Given the description of an element on the screen output the (x, y) to click on. 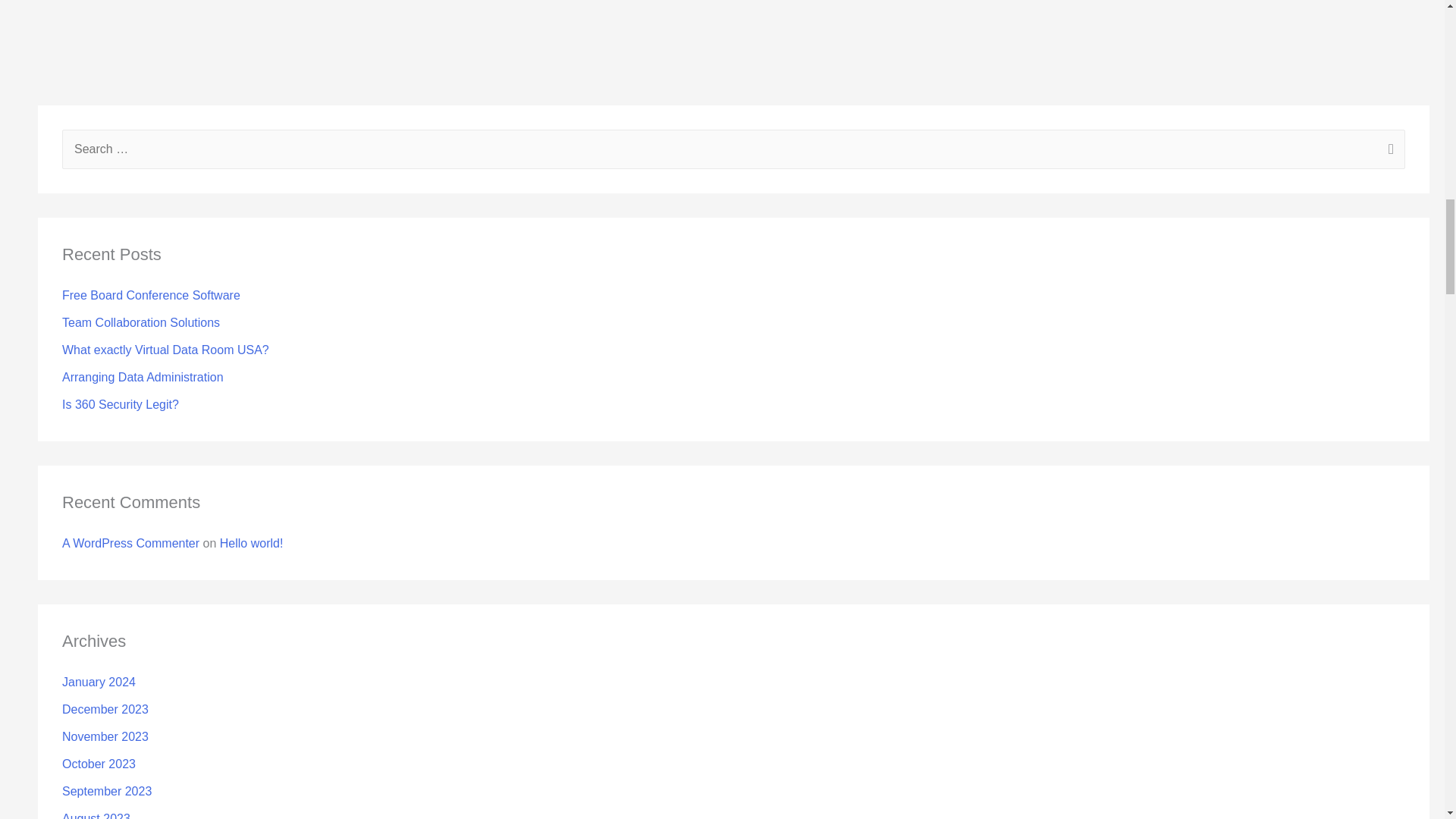
A WordPress Commenter (130, 543)
Arranging Data Administration (143, 377)
Team Collaboration Solutions (140, 322)
November 2023 (105, 736)
January 2024 (98, 681)
What exactly Virtual Data Room USA? (165, 349)
October 2023 (98, 763)
December 2023 (105, 708)
Hello world! (251, 543)
Is 360 Security Legit? (120, 404)
